Given the description of an element on the screen output the (x, y) to click on. 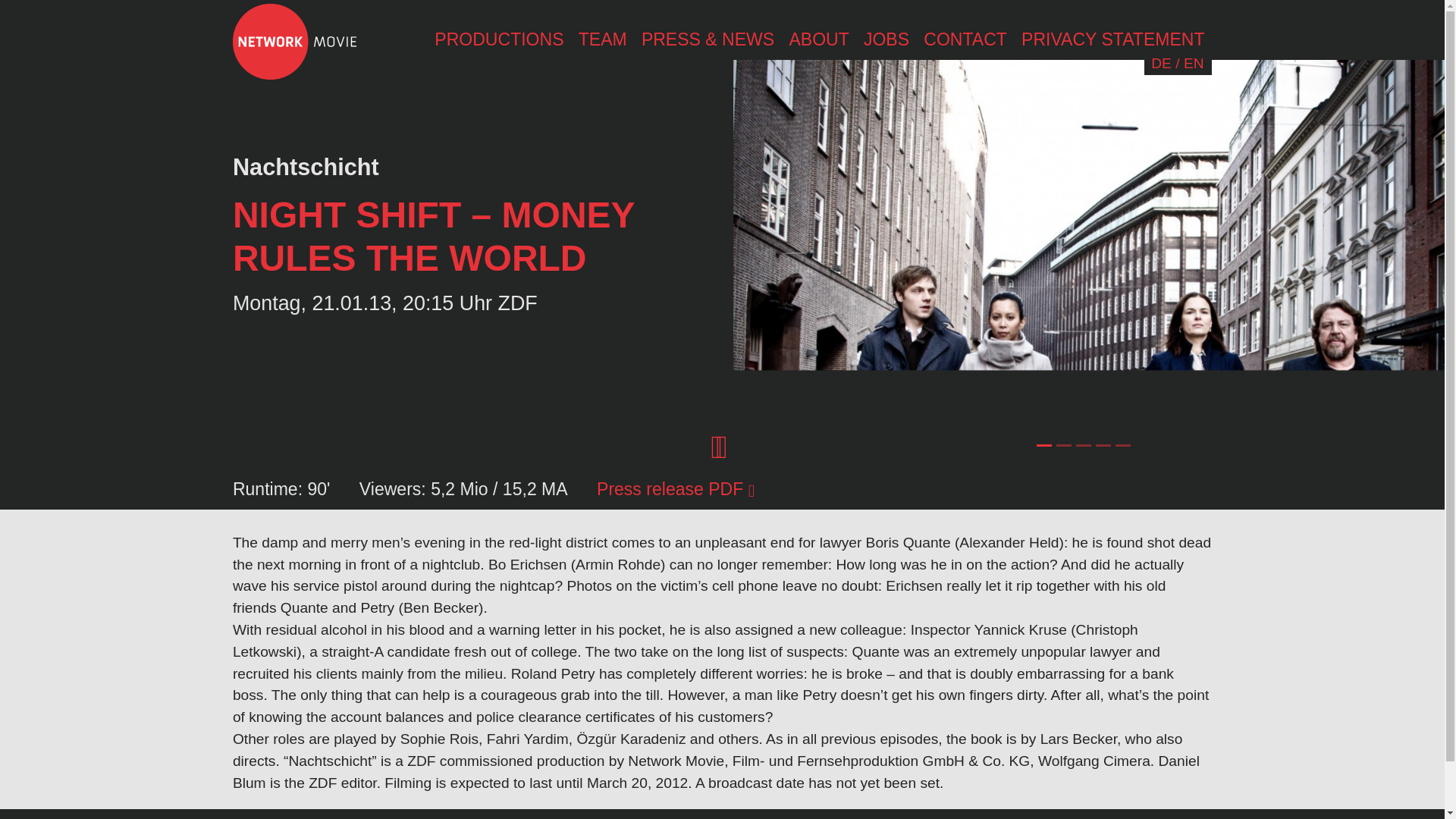
PRODUCTIONS (499, 38)
EN (1193, 64)
DE (1161, 64)
Press release PDF (675, 488)
JOBS (885, 38)
ABOUT (819, 38)
TEAM (601, 38)
PRIVACY STATEMENT (1112, 38)
CONTACT (965, 38)
